Given the description of an element on the screen output the (x, y) to click on. 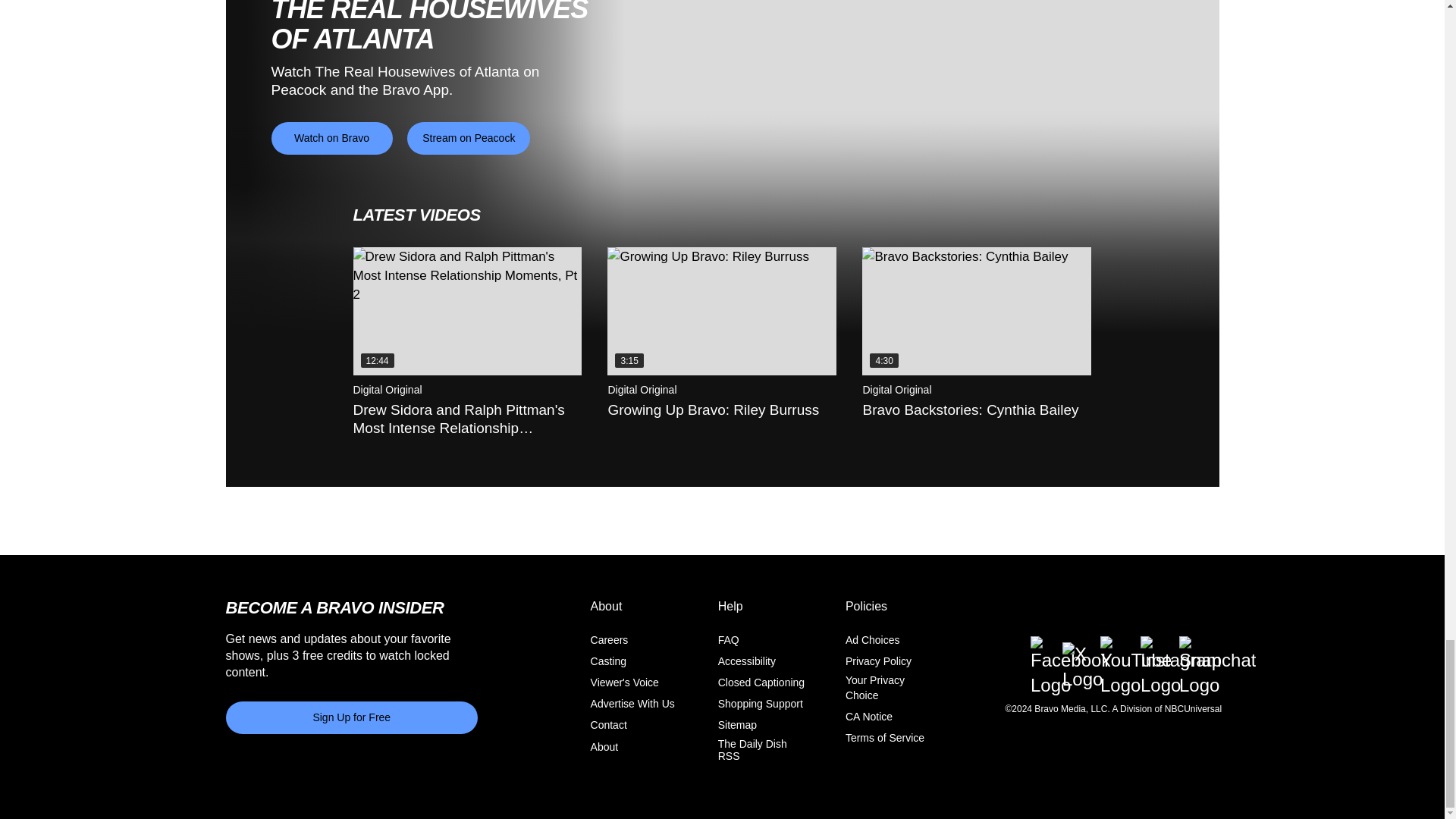
Advertise With Us (633, 704)
Growing Up Bravo: Riley Burruss (721, 311)
Bravo Backstories: Cynthia Bailey (975, 311)
